Given the description of an element on the screen output the (x, y) to click on. 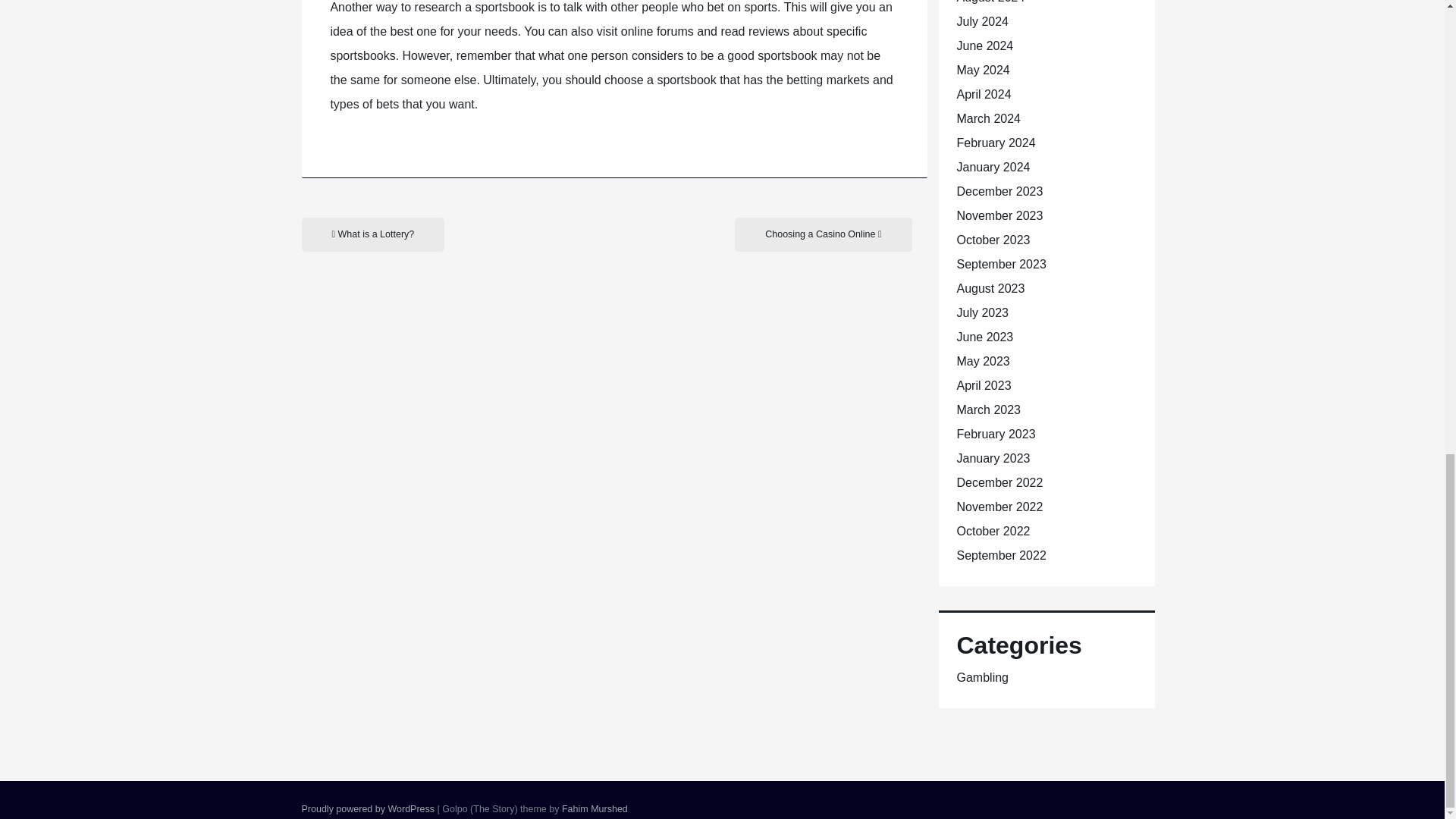
January 2023 (993, 458)
October 2023 (993, 239)
March 2023 (989, 409)
August 2024 (990, 2)
August 2023 (990, 287)
June 2024 (984, 45)
What is a Lottery? (373, 234)
October 2022 (993, 530)
July 2024 (982, 21)
July 2023 (982, 312)
